Given the description of an element on the screen output the (x, y) to click on. 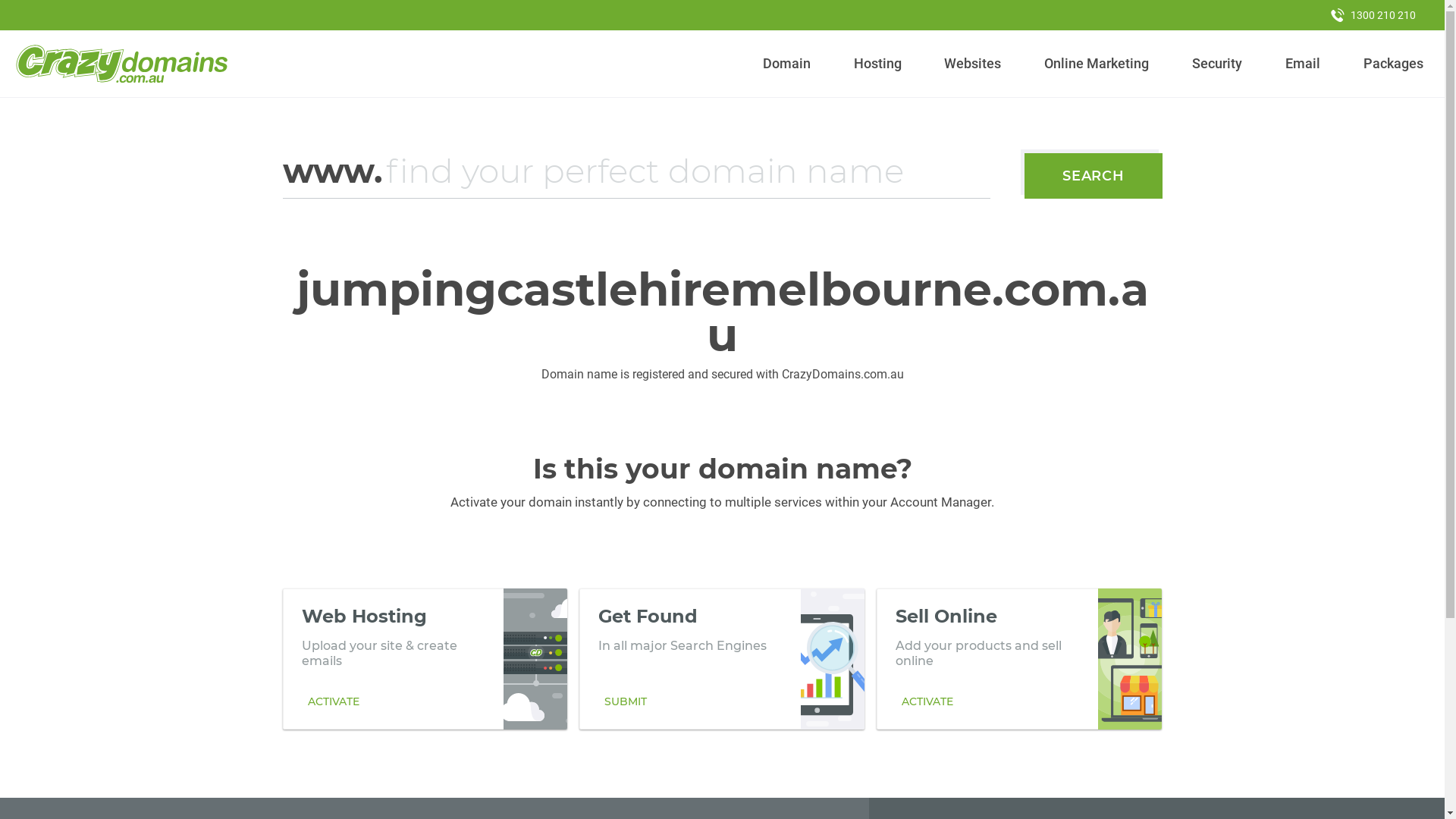
Sell Online
Add your products and sell online
ACTIVATE Element type: text (1018, 658)
Domain Element type: text (786, 63)
SEARCH Element type: text (1092, 175)
Email Element type: text (1302, 63)
Security Element type: text (1217, 63)
Packages Element type: text (1392, 63)
Get Found
In all major Search Engines
SUBMIT Element type: text (721, 658)
1300 210 210 Element type: text (1373, 15)
Websites Element type: text (972, 63)
Online Marketing Element type: text (1096, 63)
Hosting Element type: text (877, 63)
Web Hosting
Upload your site & create emails
ACTIVATE Element type: text (424, 658)
